Given the description of an element on the screen output the (x, y) to click on. 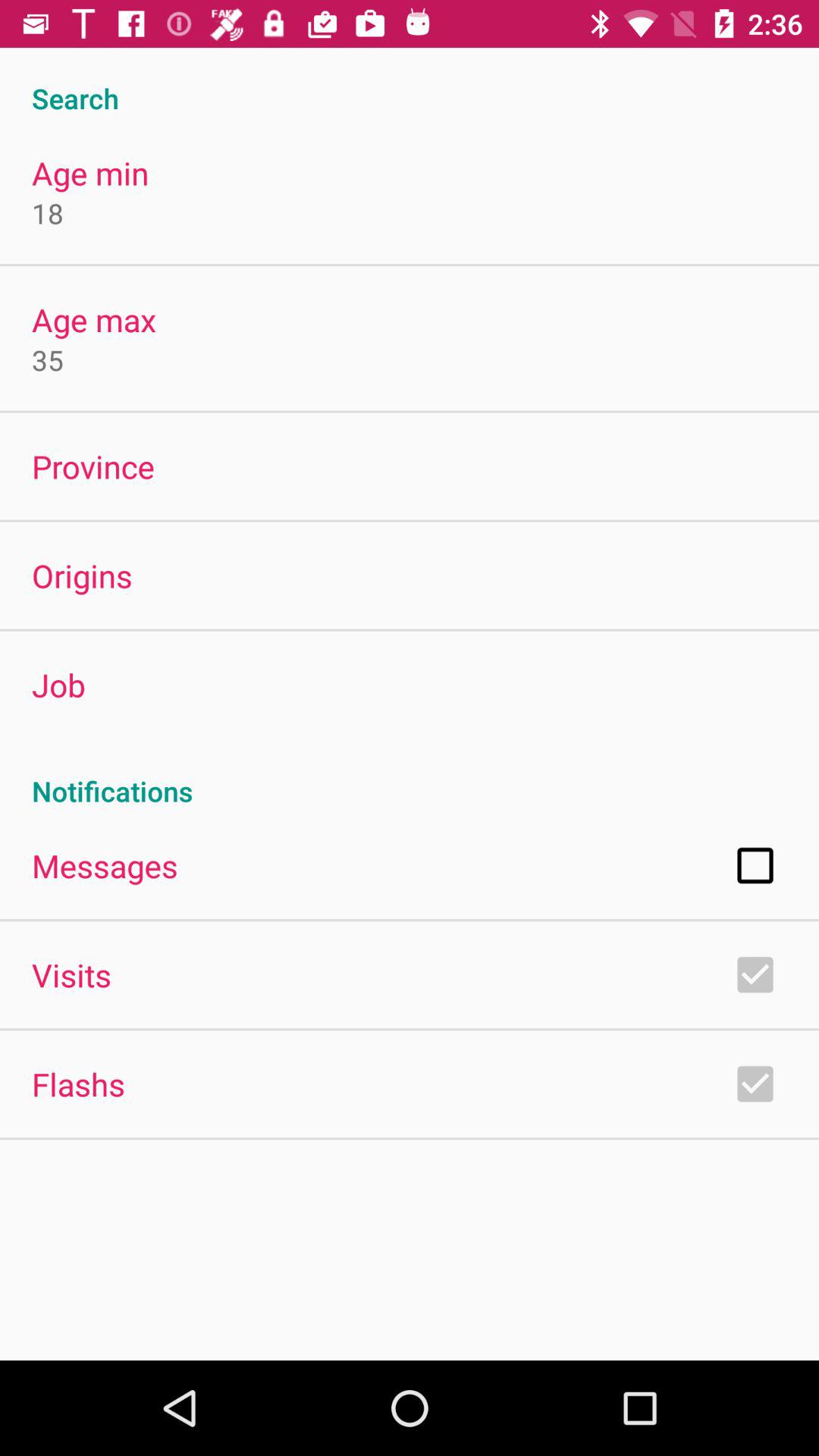
launch the app below 35 icon (92, 465)
